Given the description of an element on the screen output the (x, y) to click on. 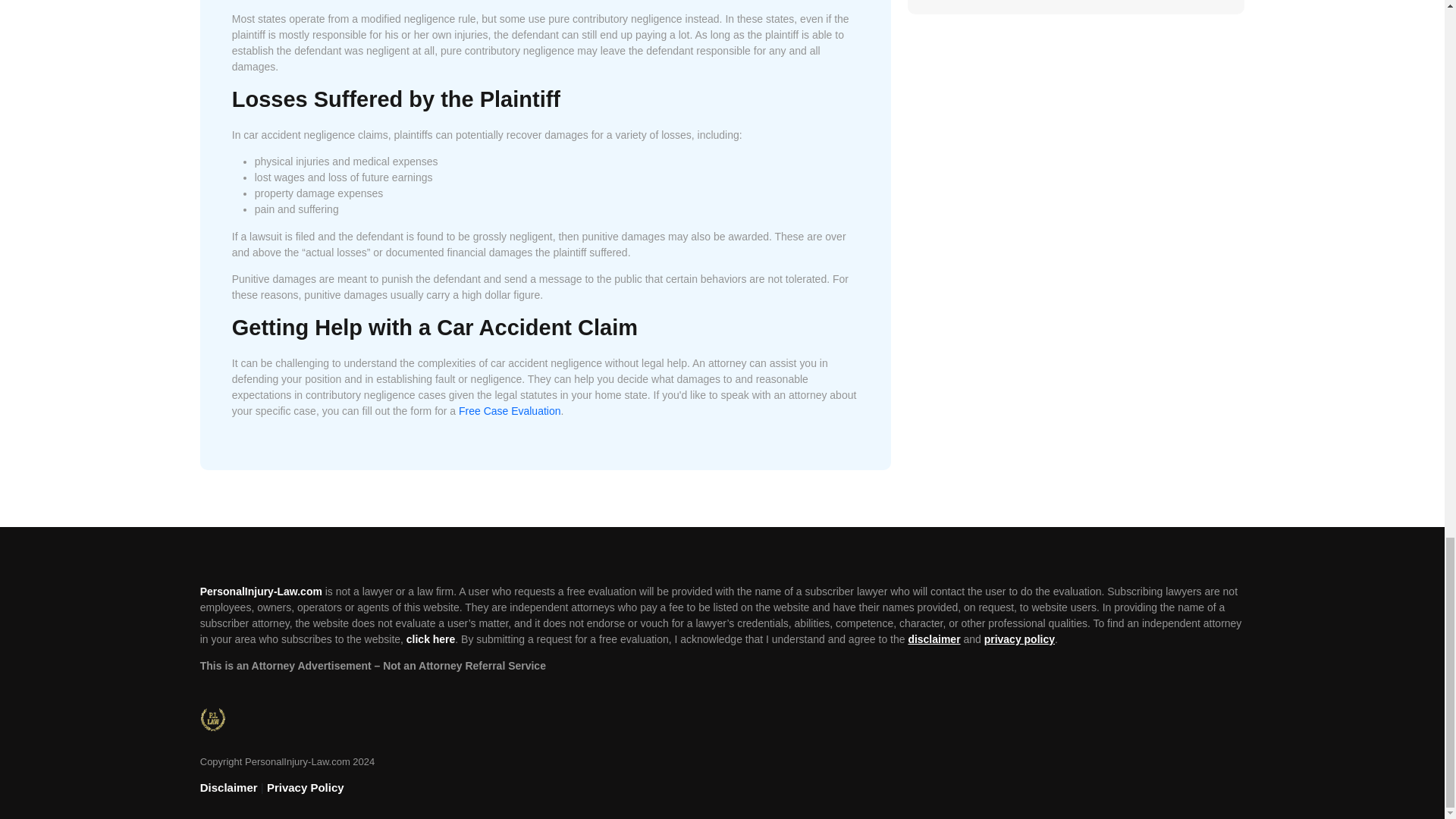
Free Case Evaluation (509, 410)
